Given the description of an element on the screen output the (x, y) to click on. 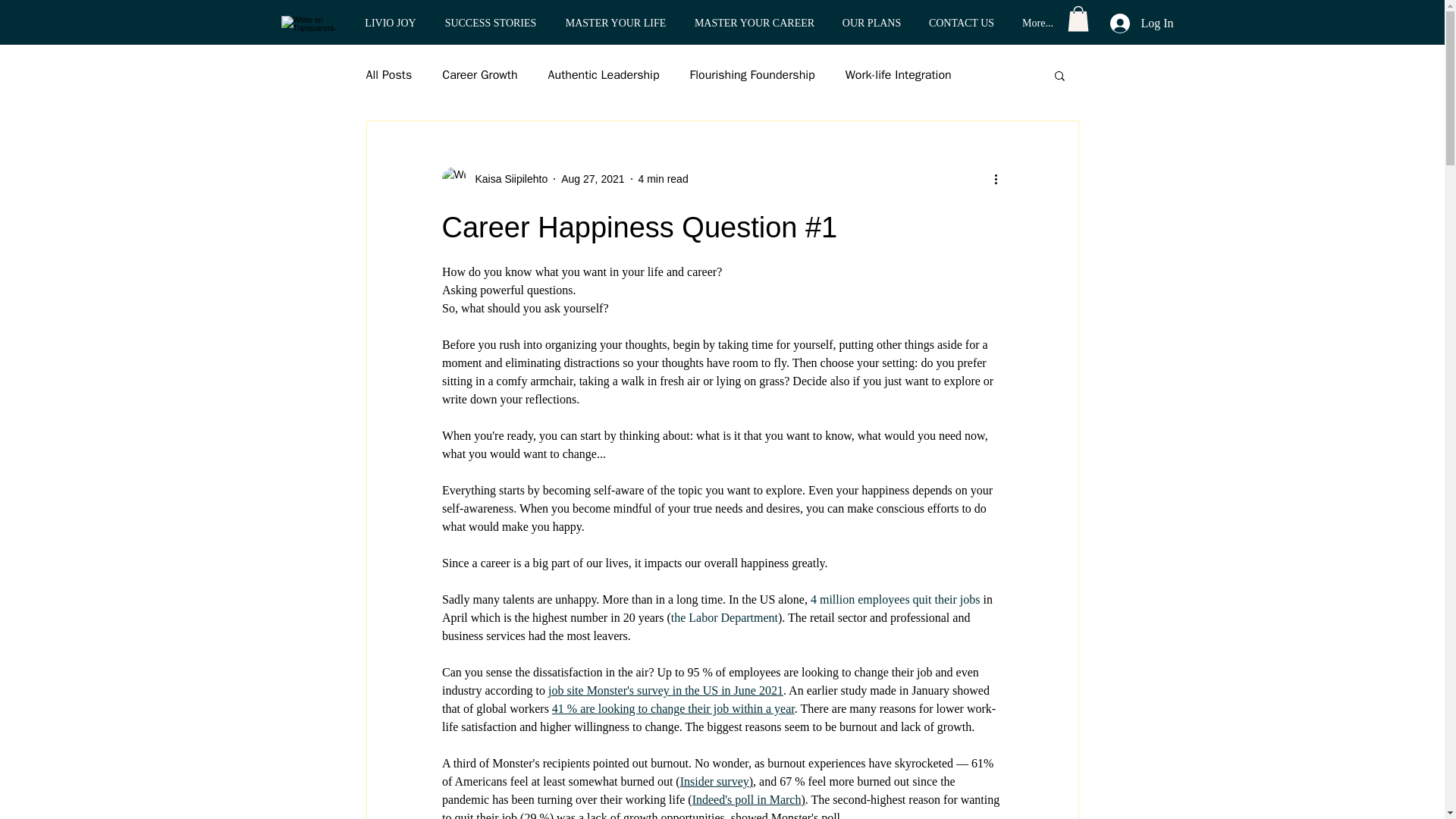
Authentic Leadership (603, 74)
MASTER YOUR CAREER (754, 22)
4 min read (663, 178)
4 million employees quit their jobs (894, 599)
Aug 27, 2021 (592, 178)
All Posts (388, 74)
CONTACT US (960, 22)
Log In (1141, 23)
Kaisa Siipilehto (494, 178)
Career Growth (479, 74)
